Given the description of an element on the screen output the (x, y) to click on. 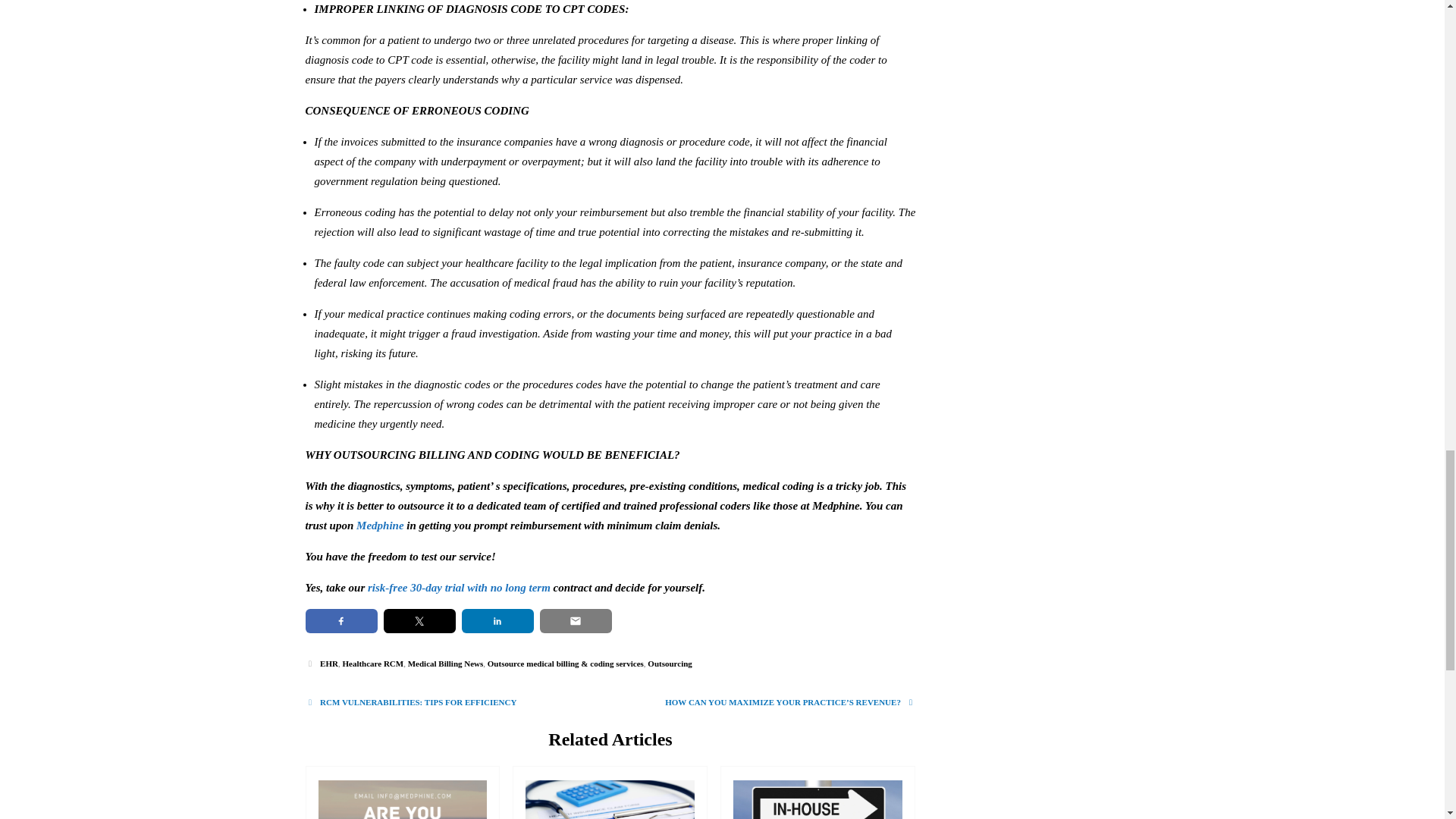
Previous (410, 701)
Next (790, 701)
